Given the description of an element on the screen output the (x, y) to click on. 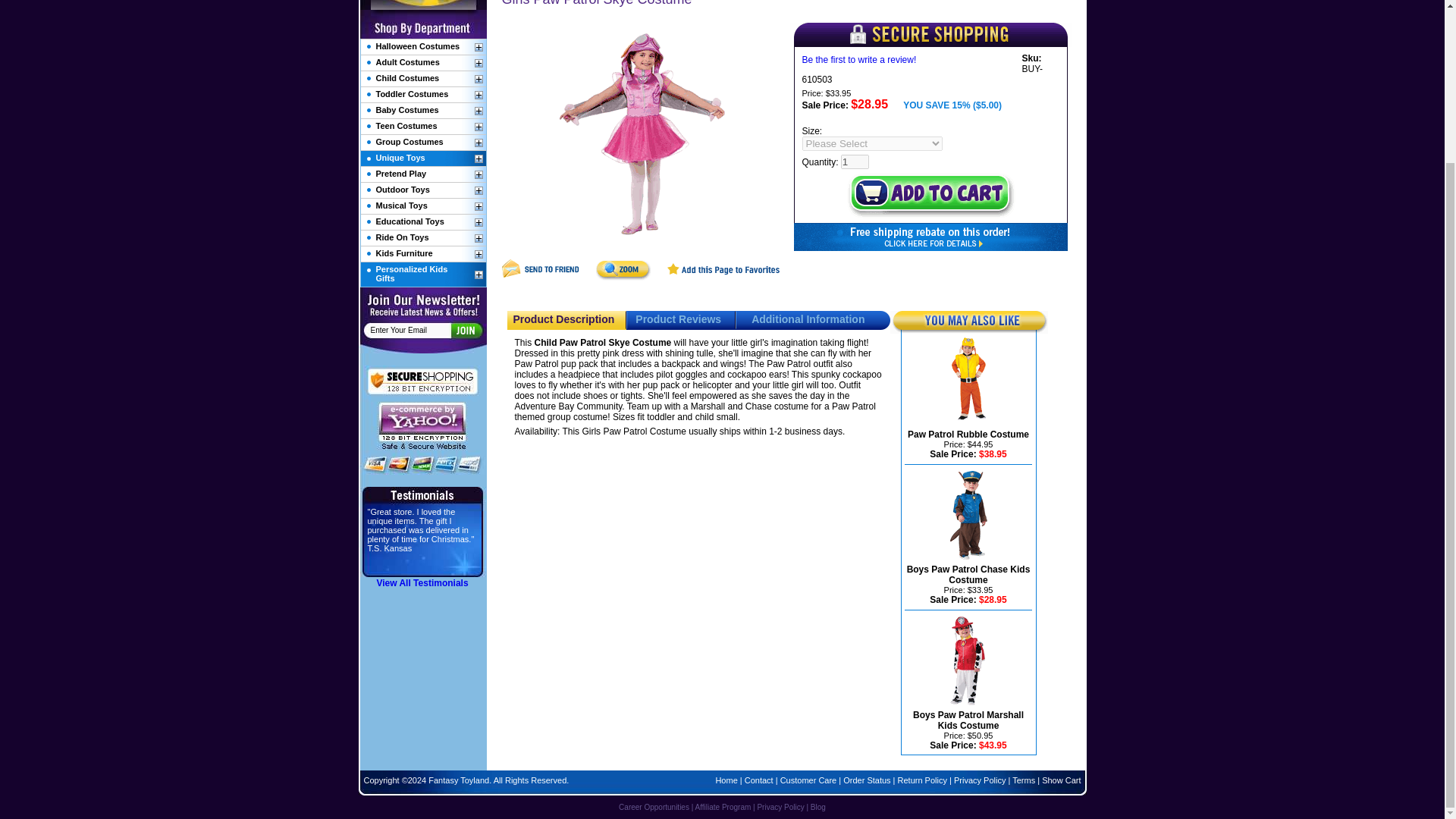
Size (872, 143)
bookmark this page (723, 276)
Be the first to write a review! (859, 59)
Boys Paw Patrol Chase Kids Costume (968, 574)
Submit (465, 330)
Additional Information (807, 318)
Girls Paw Patrol Skye Costume (642, 136)
1 (855, 161)
Paw Patrol Rubble Costume (968, 434)
Boys Paw Patrol Marshall Kids Costume (967, 720)
Enter Your Email (409, 329)
Product Reviews (677, 318)
Product Description (563, 318)
